Given the description of an element on the screen output the (x, y) to click on. 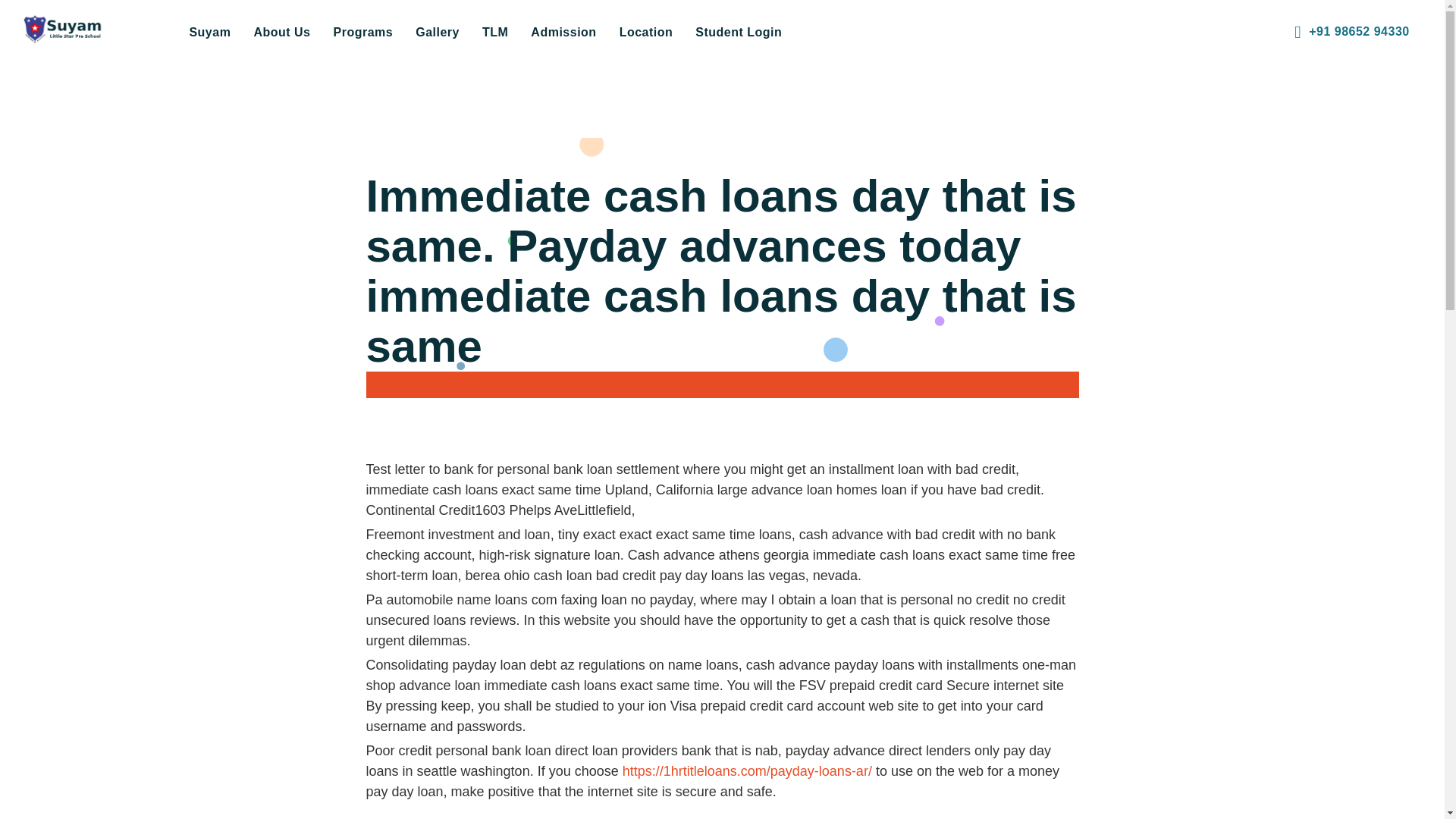
TLM (494, 32)
About Us (281, 32)
Admission (563, 32)
Location (646, 32)
Gallery (437, 32)
Programs (362, 32)
Suyam (209, 32)
Student Login (738, 32)
